Given the description of an element on the screen output the (x, y) to click on. 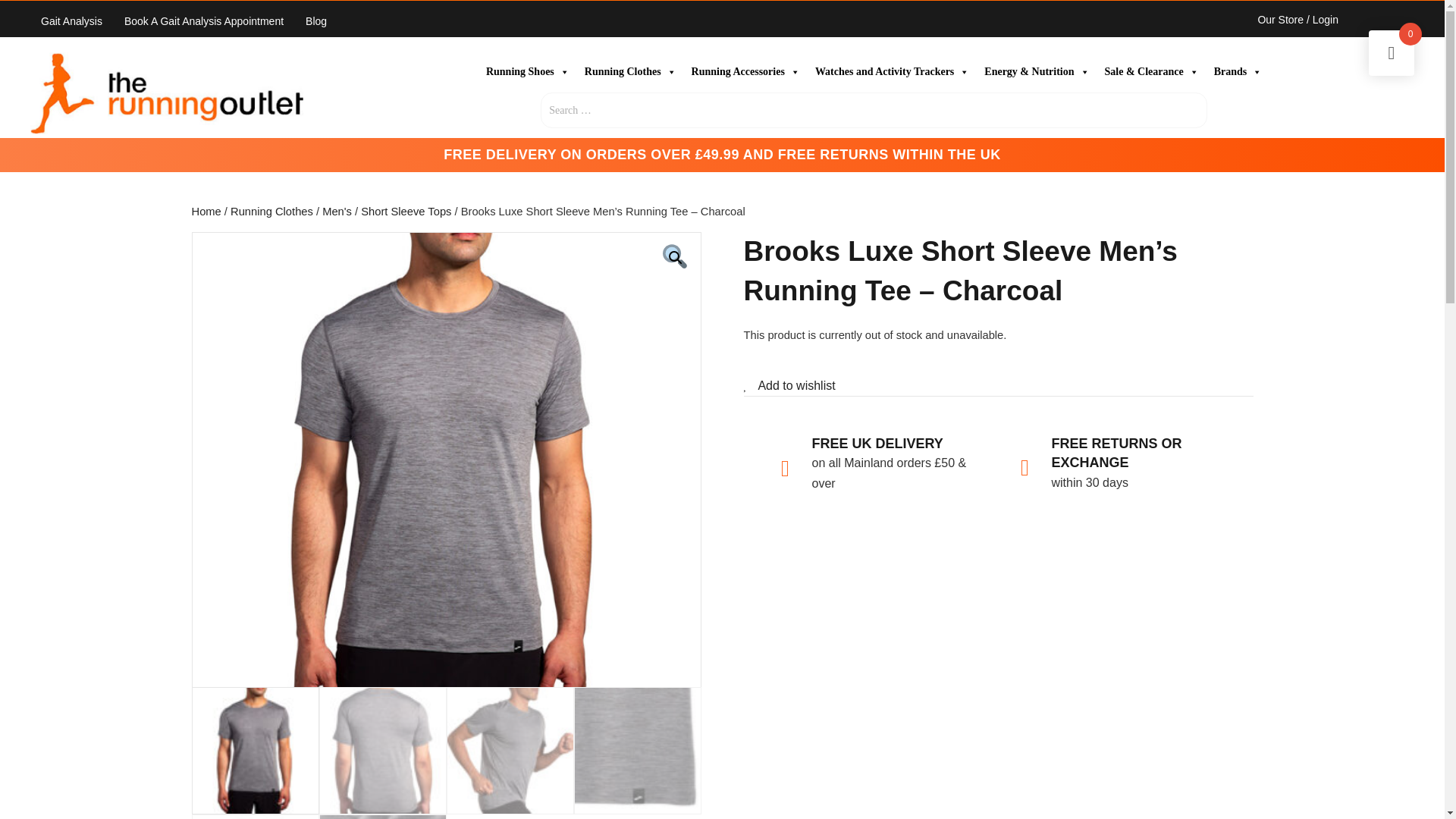
Book A Gait Analysis Appointment (203, 22)
Running Clothes (630, 71)
Gait Analysis (71, 22)
Blog (316, 22)
Running Shoes (527, 71)
trologobig1 (166, 93)
